Given the description of an element on the screen output the (x, y) to click on. 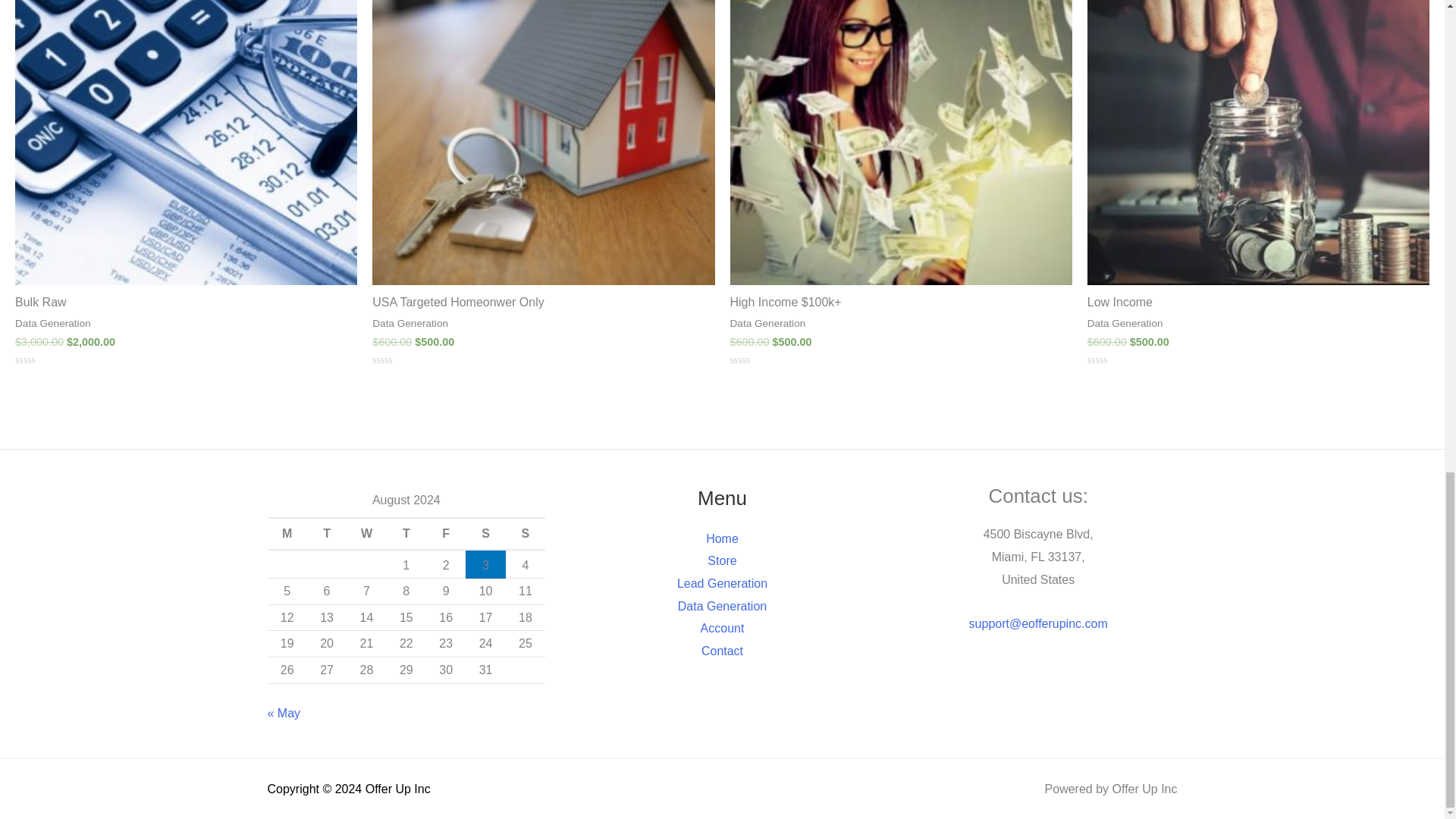
Bulk Raw (185, 302)
Wednesday (365, 533)
Tuesday (326, 533)
Thursday (406, 533)
Sunday (524, 533)
USA Targeted Homeonwer Only (543, 302)
Saturday (485, 533)
Friday (445, 533)
Monday (285, 533)
